Given the description of an element on the screen output the (x, y) to click on. 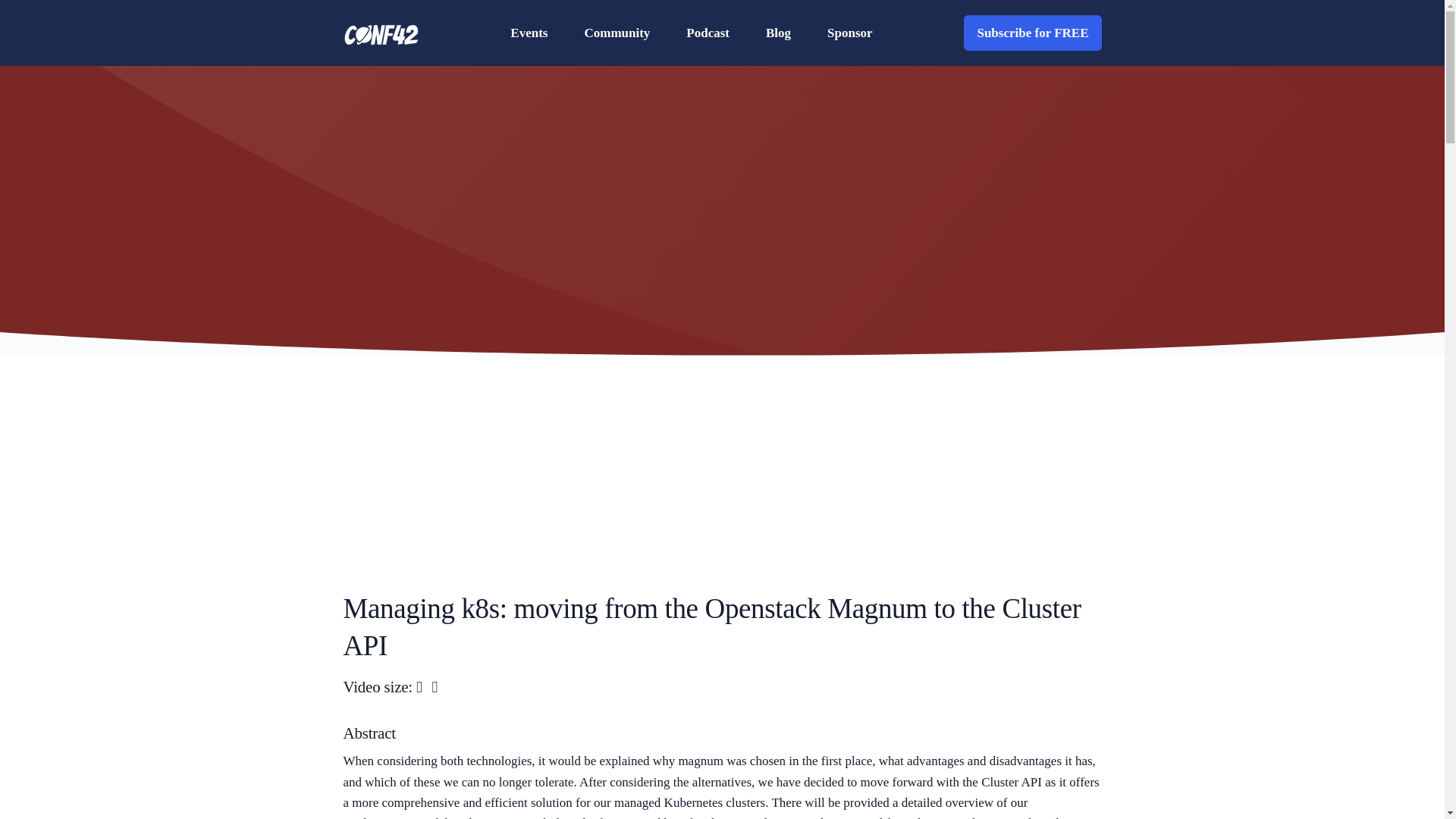
Podcast (708, 32)
Community (617, 32)
Events (529, 32)
